Given the description of an element on the screen output the (x, y) to click on. 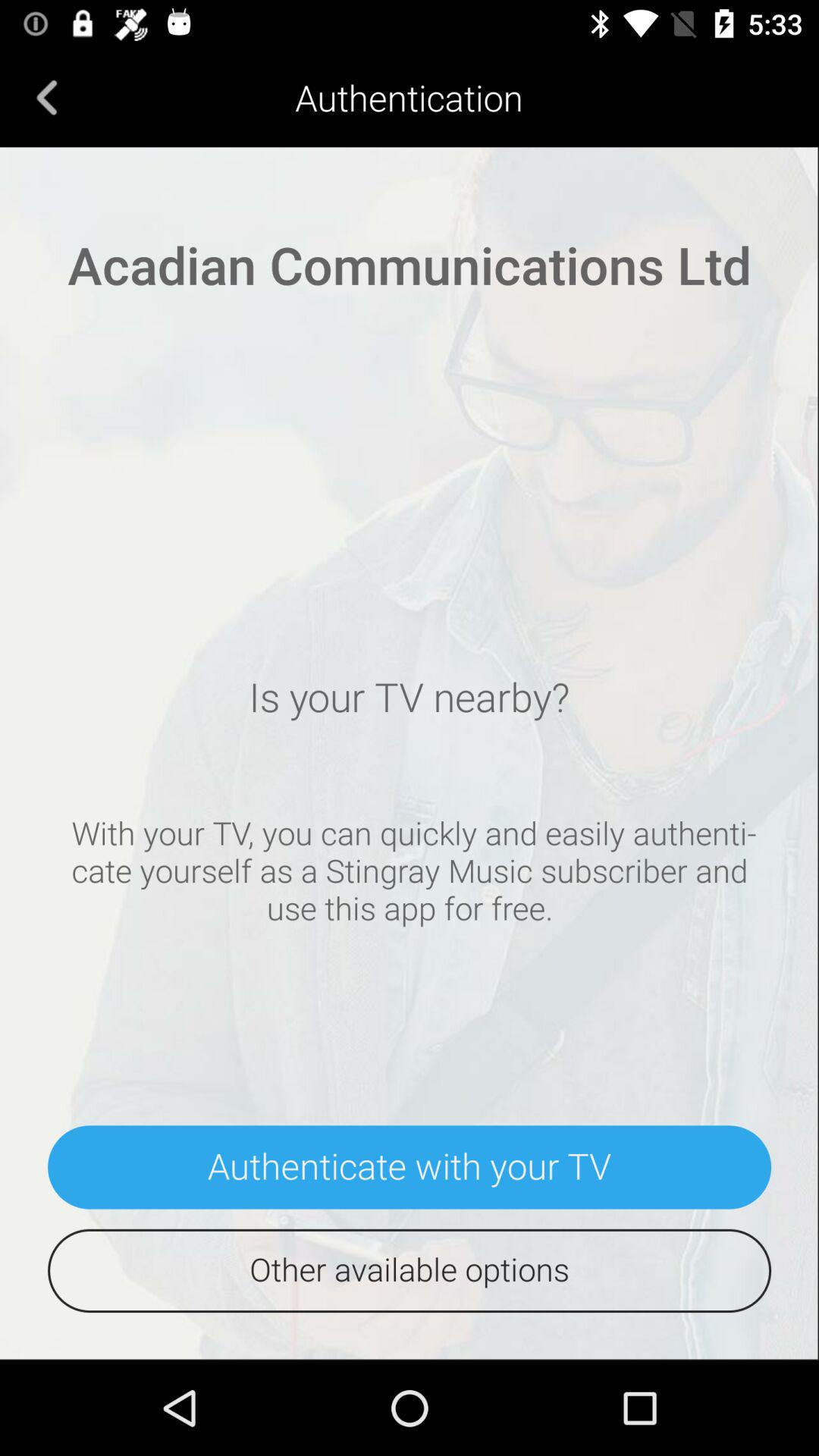
scroll until other available options item (409, 1270)
